Given the description of an element on the screen output the (x, y) to click on. 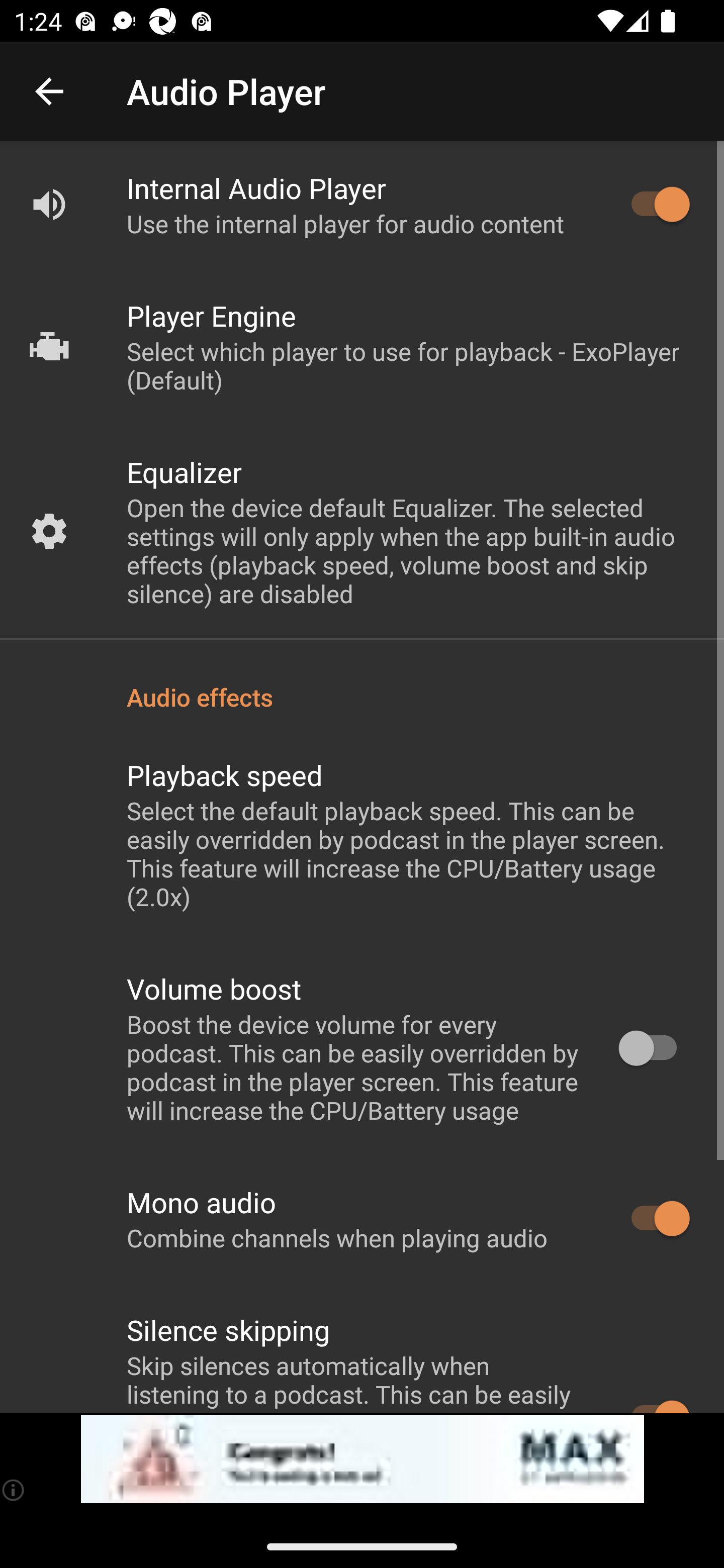
Navigate up (49, 91)
Mono audio Combine channels when playing audio (362, 1218)
app-monetization (362, 1459)
(i) (14, 1489)
